Given the description of an element on the screen output the (x, y) to click on. 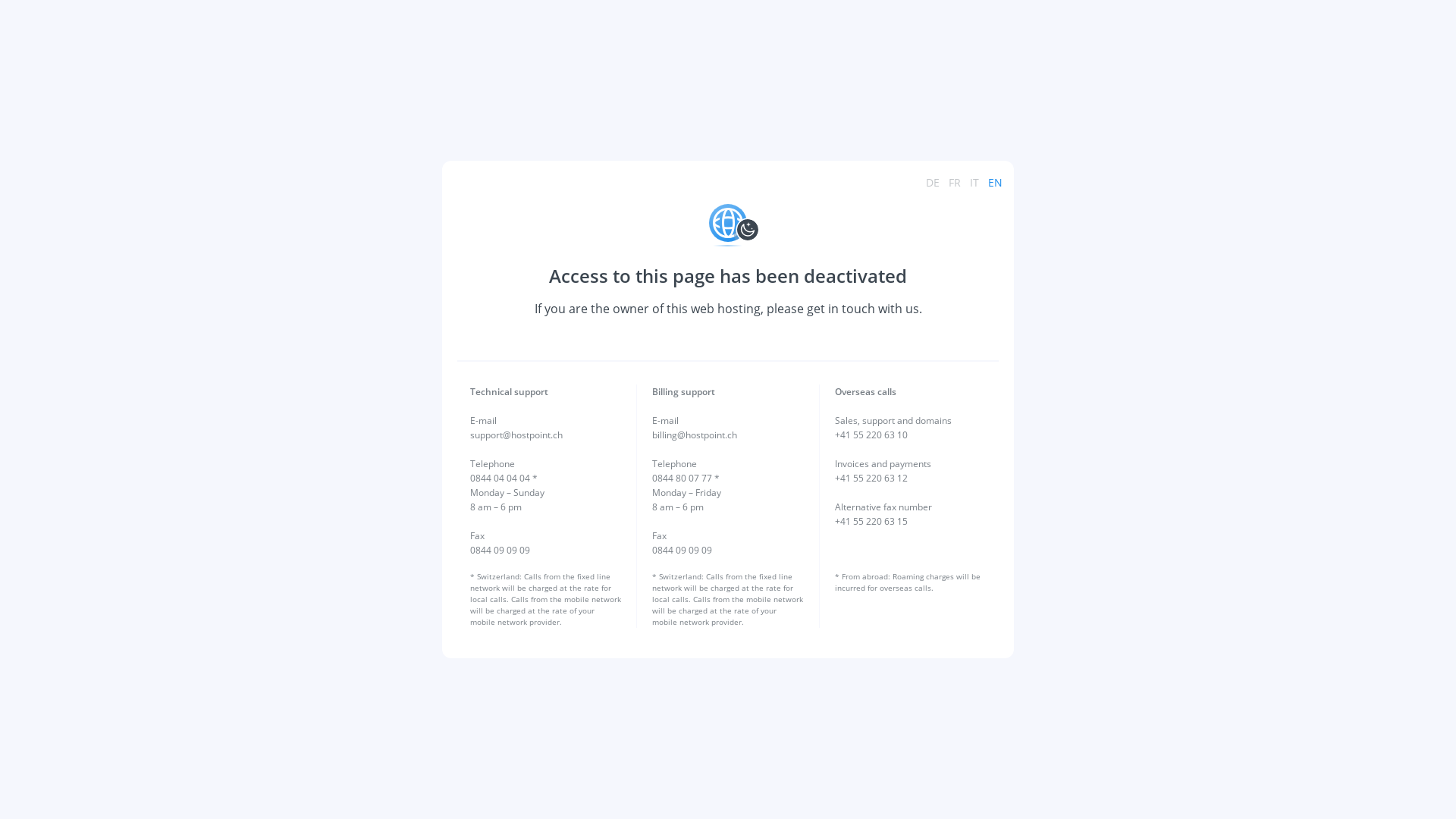
support@hostpoint.ch Element type: text (516, 434)
billing@hostpoint.ch Element type: text (694, 434)
